Given the description of an element on the screen output the (x, y) to click on. 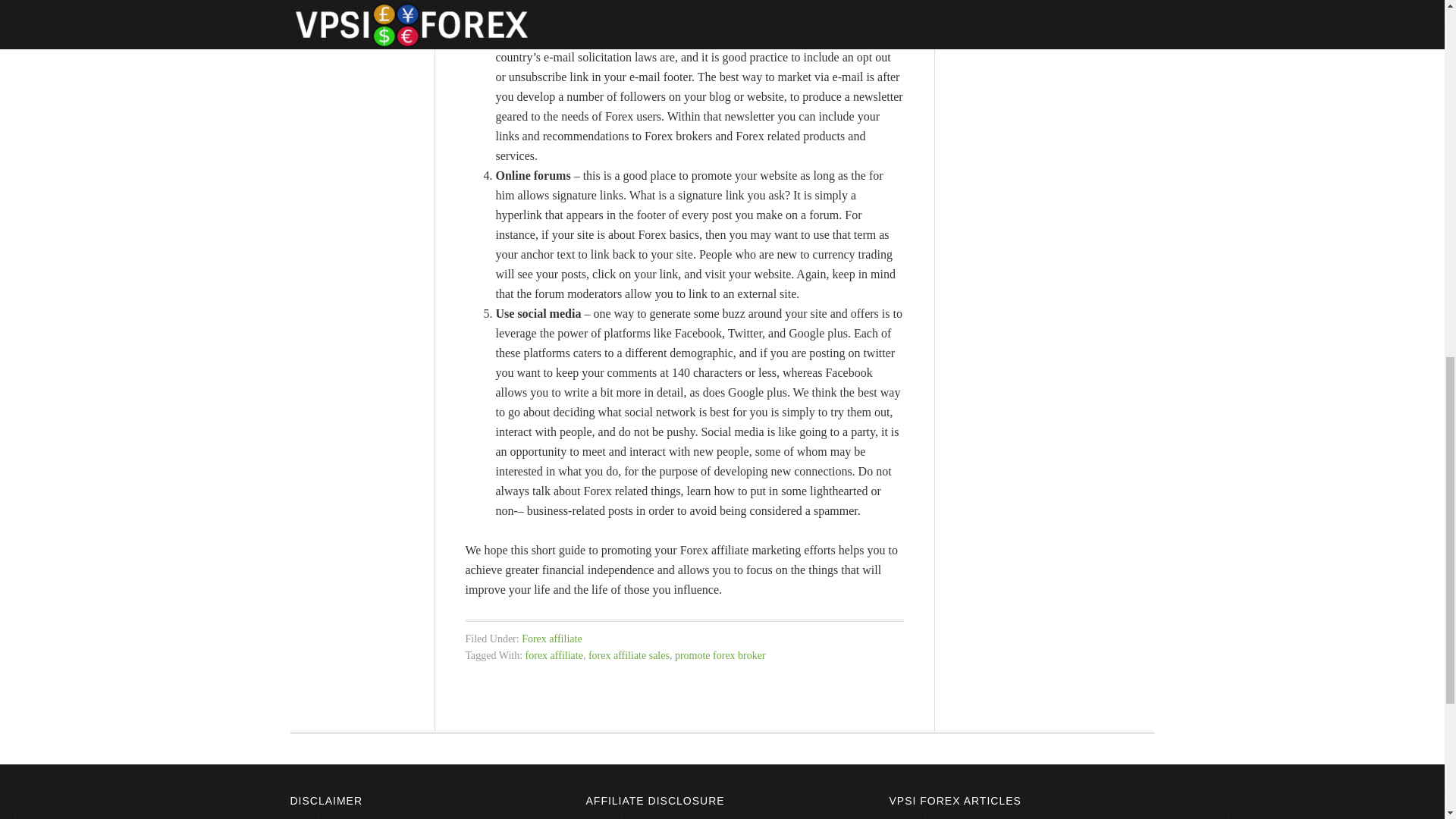
Forex affiliate (550, 637)
promote forex broker (720, 655)
forex affiliate sales (628, 655)
forex affiliate (554, 655)
